Given the description of an element on the screen output the (x, y) to click on. 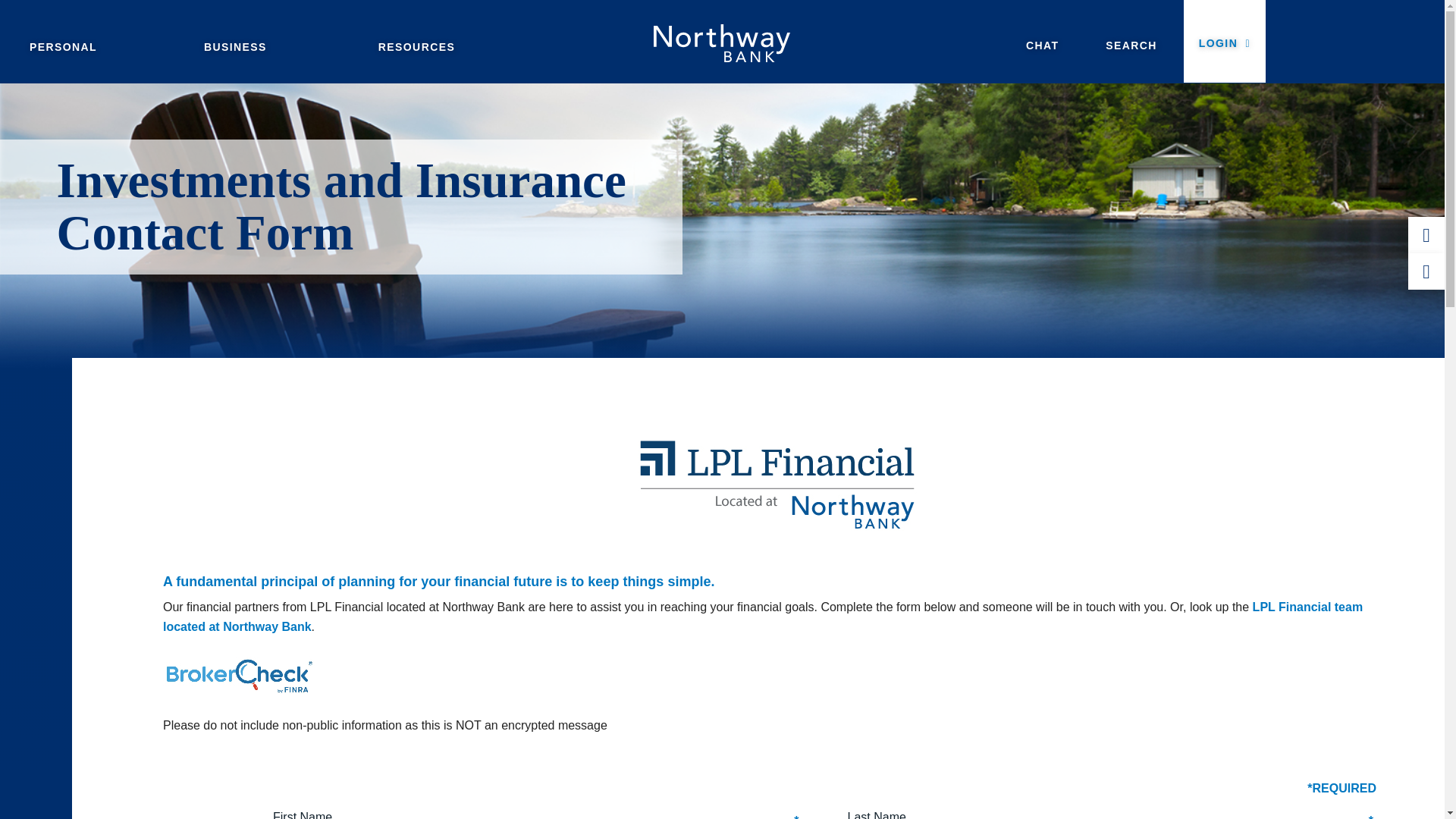
Northway Bank, Berlin, NH (721, 42)
BUSINESS (275, 46)
PERSONAL (101, 46)
